Given the description of an element on the screen output the (x, y) to click on. 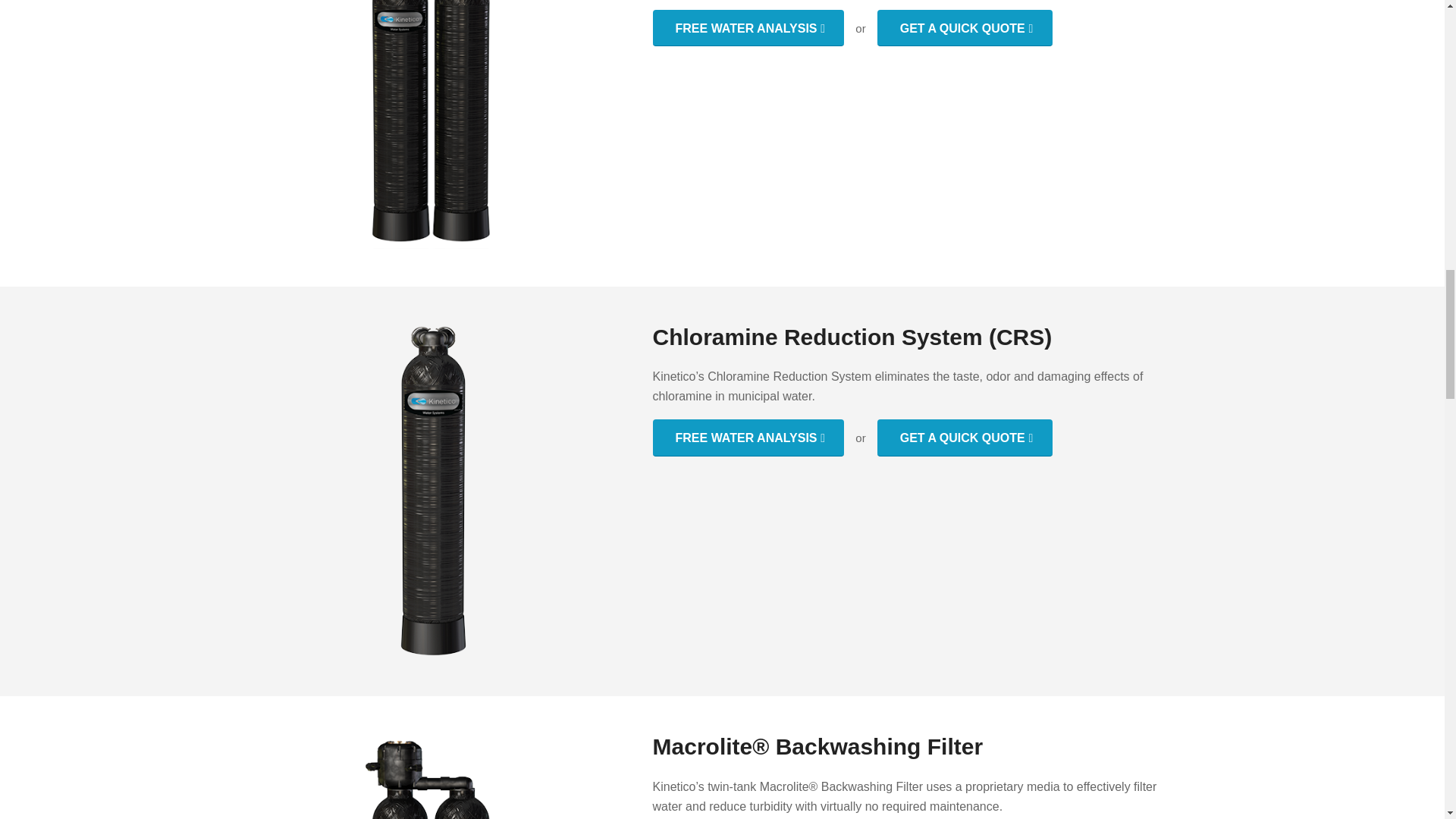
Carbon Backwashing Filter (429, 124)
FREE WATER ANALYSIS (748, 27)
FREE WATER ANALYSIS (748, 437)
GET A QUICK QUOTE (964, 27)
GET A QUICK QUOTE (964, 437)
